Given the description of an element on the screen output the (x, y) to click on. 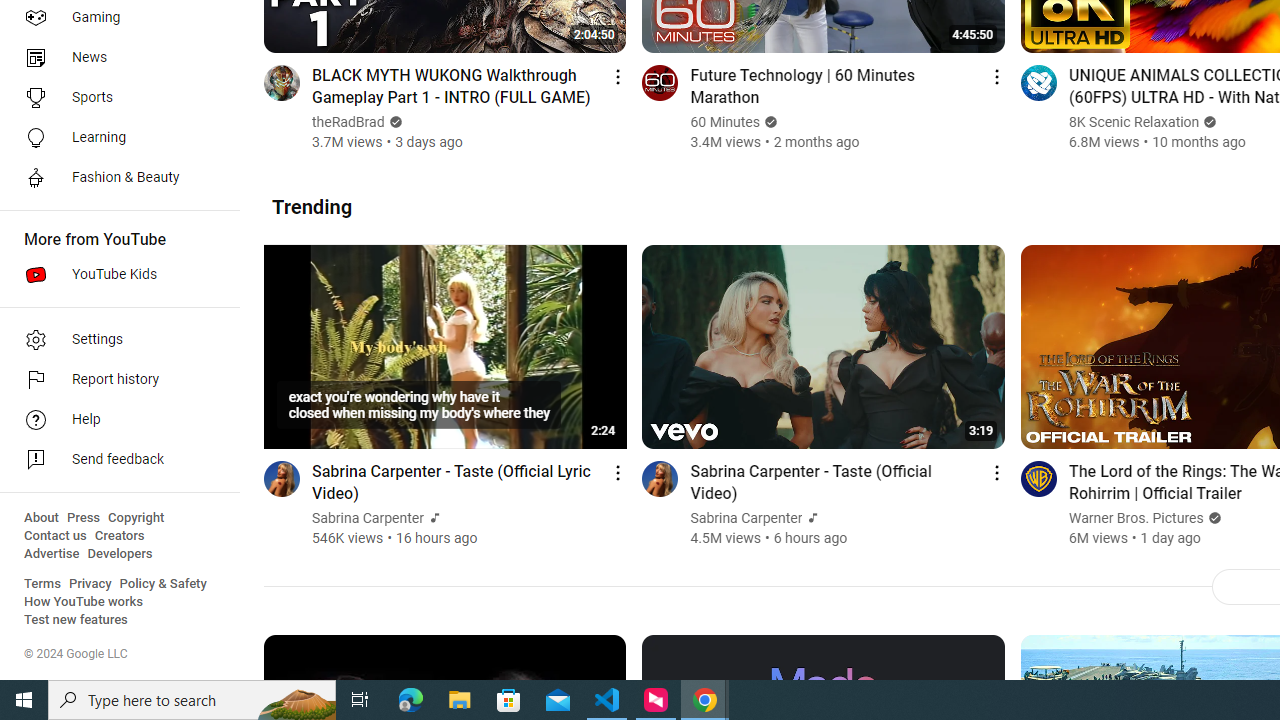
Send feedback (113, 459)
News (113, 57)
Go to channel (1038, 478)
Copyright (136, 518)
Privacy (89, 584)
Terms (42, 584)
Settings (113, 339)
Fashion & Beauty (113, 177)
Learning (113, 137)
Developers (120, 554)
Press (83, 518)
Report history (113, 380)
